Given the description of an element on the screen output the (x, y) to click on. 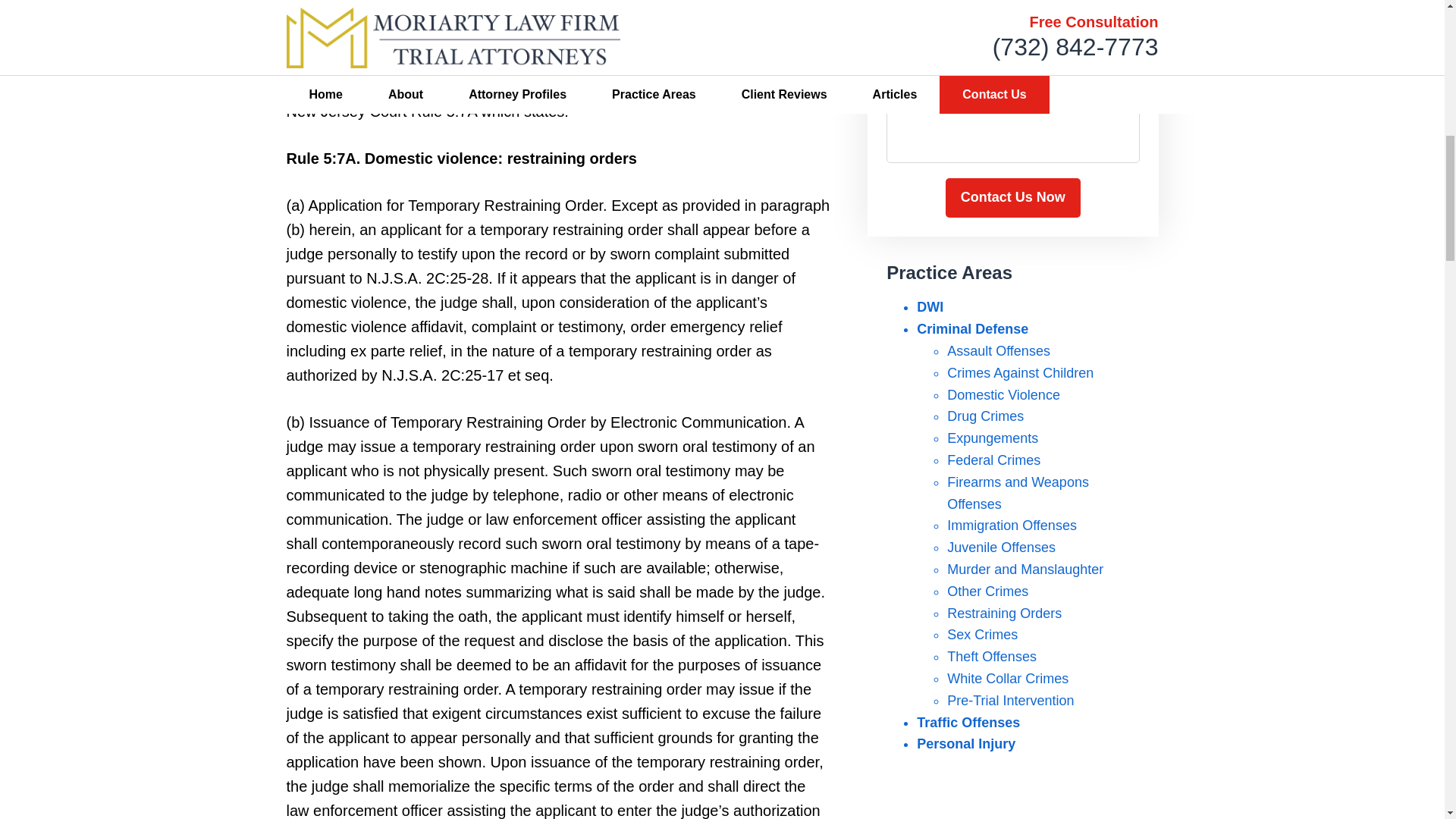
Immigration Offenses (1012, 525)
Assault Offenses (998, 350)
Restraining Orders (1004, 613)
Criminal Defense (972, 328)
Traffic Offenses (968, 722)
Practice Areas (948, 272)
Murder and Manslaughter (1025, 569)
DWI (930, 306)
Federal Crimes (994, 459)
Other Crimes (987, 590)
